Given the description of an element on the screen output the (x, y) to click on. 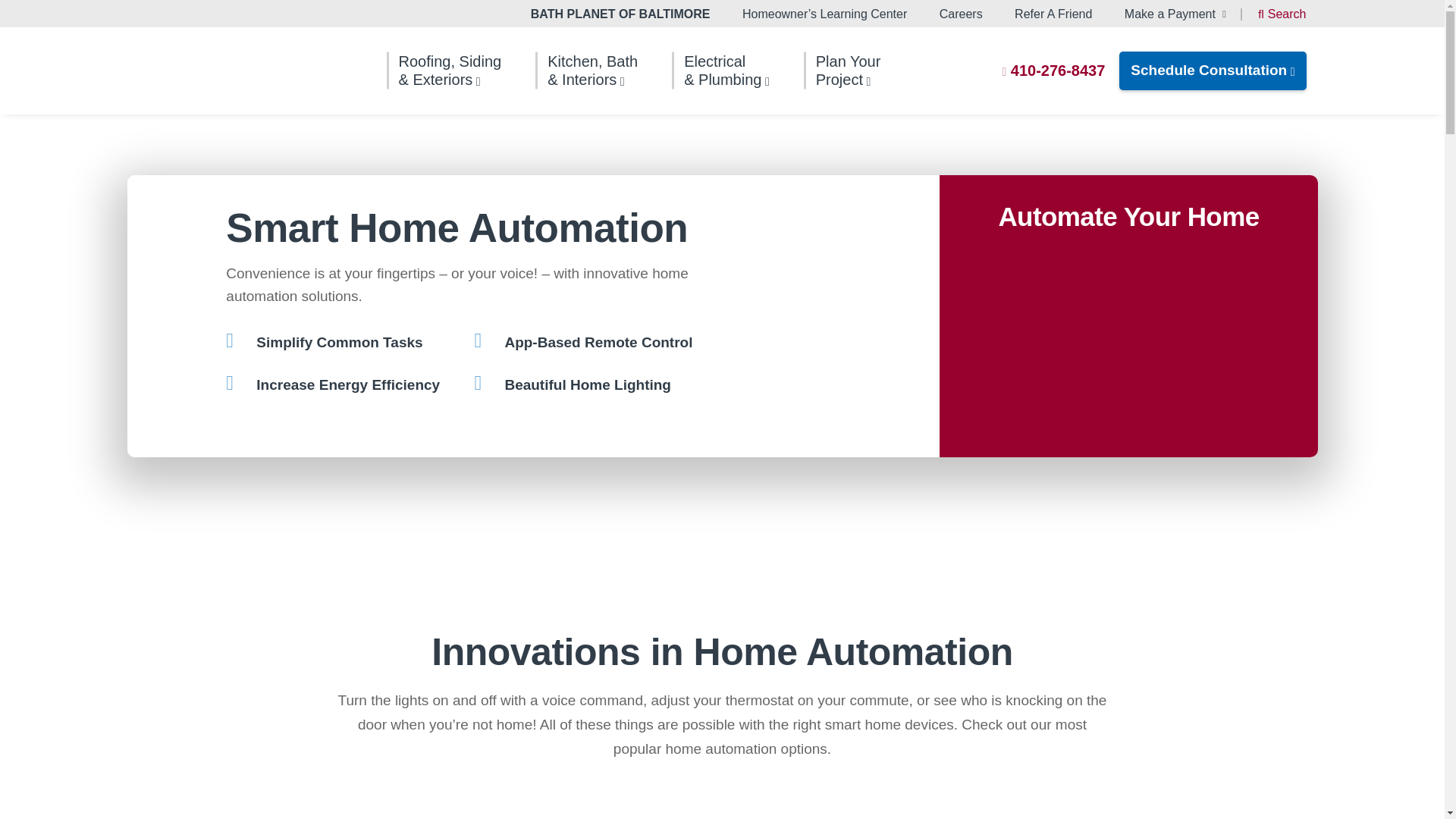
Refer A Friend (1053, 14)
Careers (960, 14)
BATH PLANET OF BALTIMORE (620, 14)
Make a Payment (1174, 14)
Search (1281, 14)
